Given the description of an element on the screen output the (x, y) to click on. 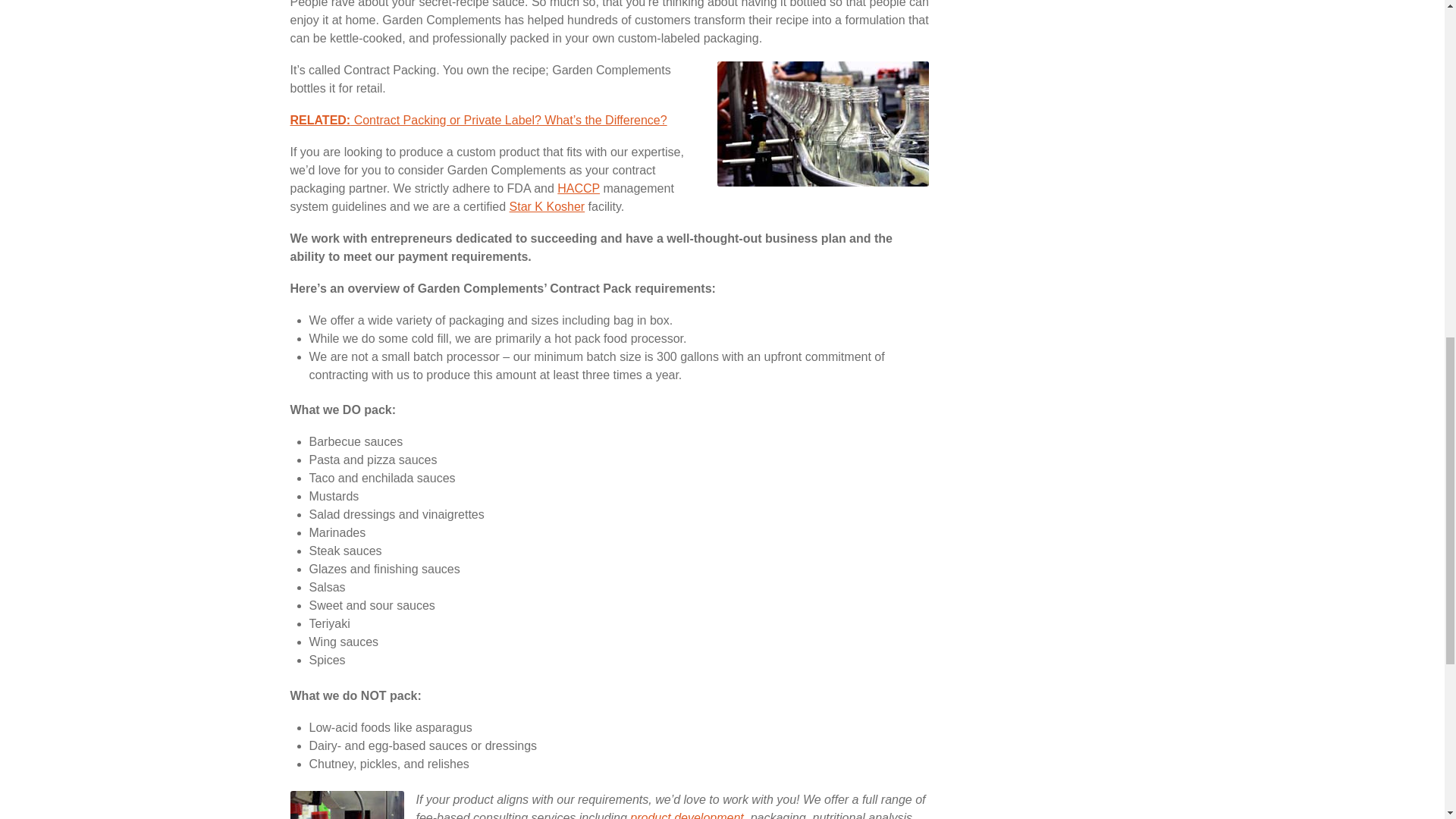
HACCP (578, 187)
